Given the description of an element on the screen output the (x, y) to click on. 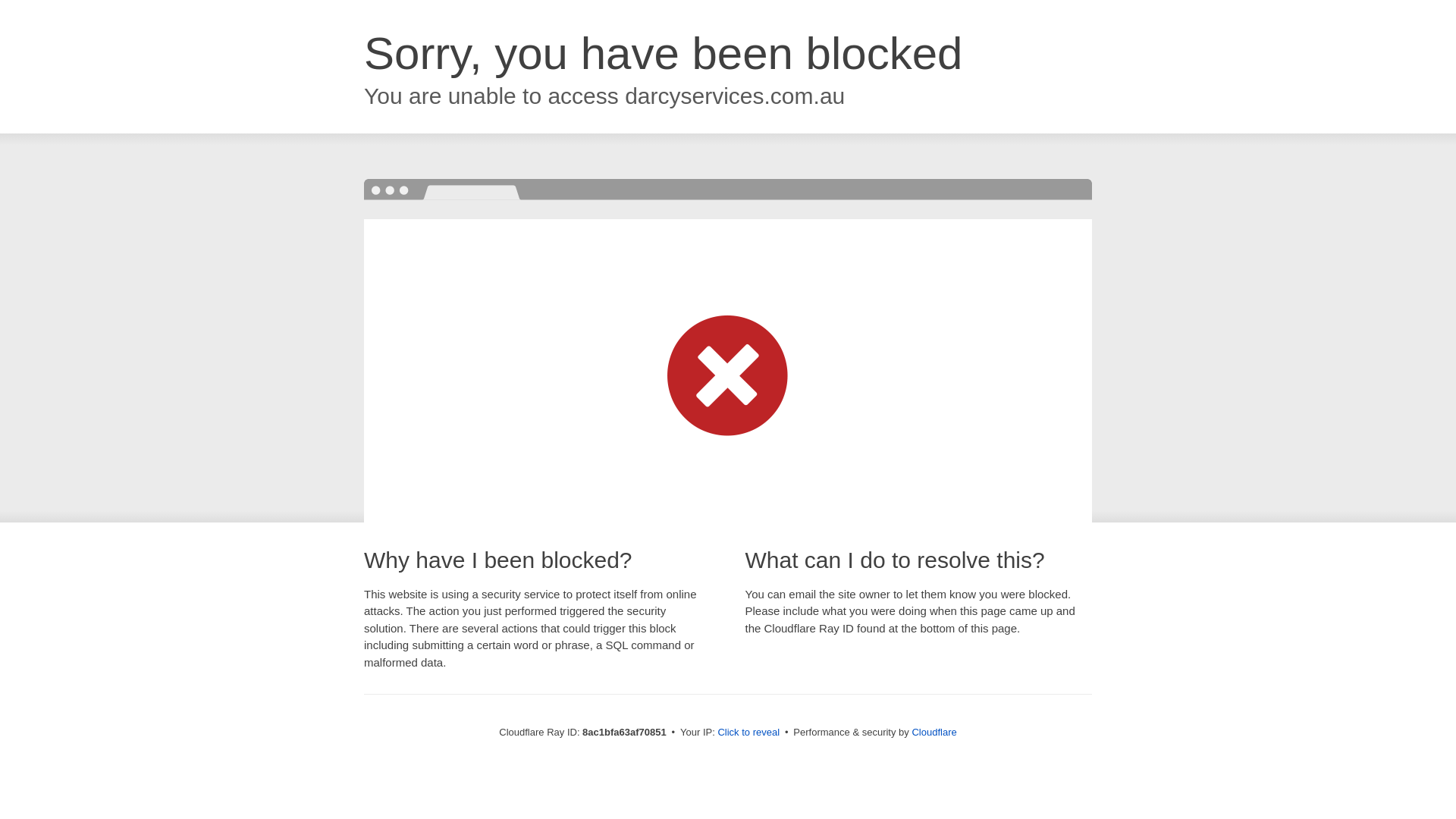
Click to reveal (747, 732)
Cloudflare (933, 731)
